Given the description of an element on the screen output the (x, y) to click on. 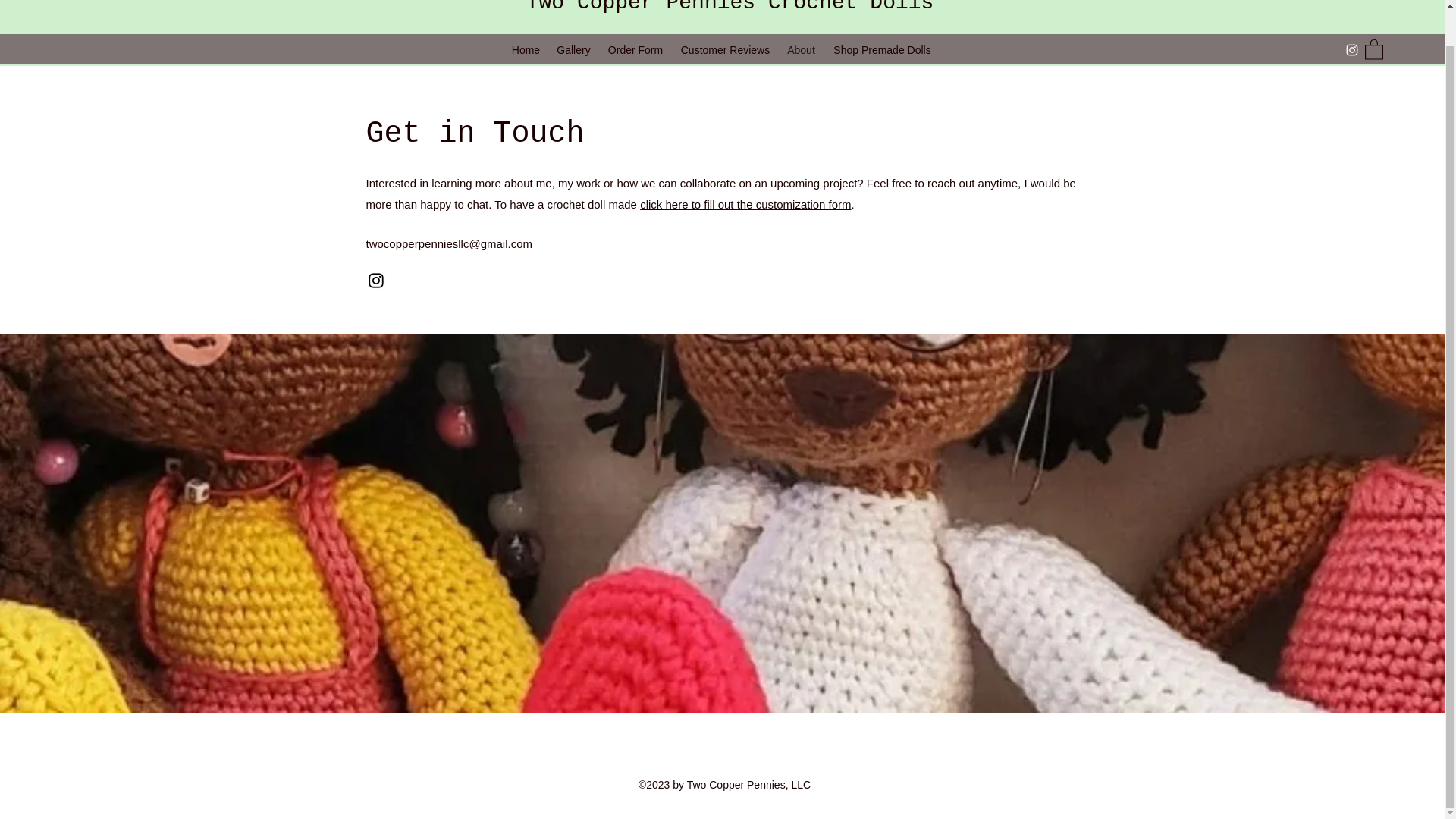
click here to fill out the customization form (745, 204)
Gallery (573, 49)
Customer Reviews (724, 49)
Two Copper Pennies Crochet Dolls (729, 7)
Order Form (634, 49)
Home (525, 49)
About (801, 49)
Shop Premade Dolls (882, 49)
